Given the description of an element on the screen output the (x, y) to click on. 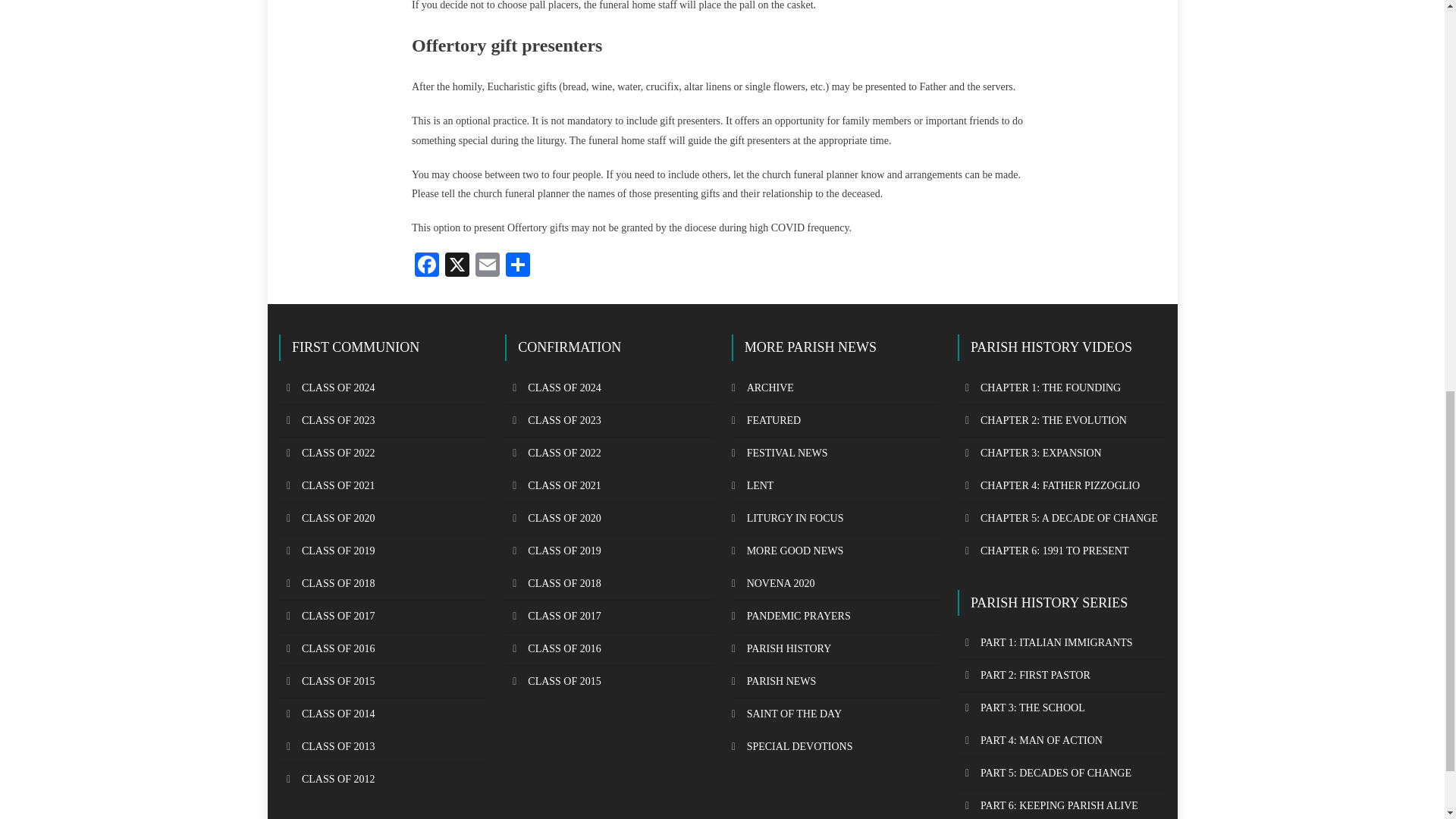
X (456, 266)
Email (486, 266)
Facebook (427, 266)
